Given the description of an element on the screen output the (x, y) to click on. 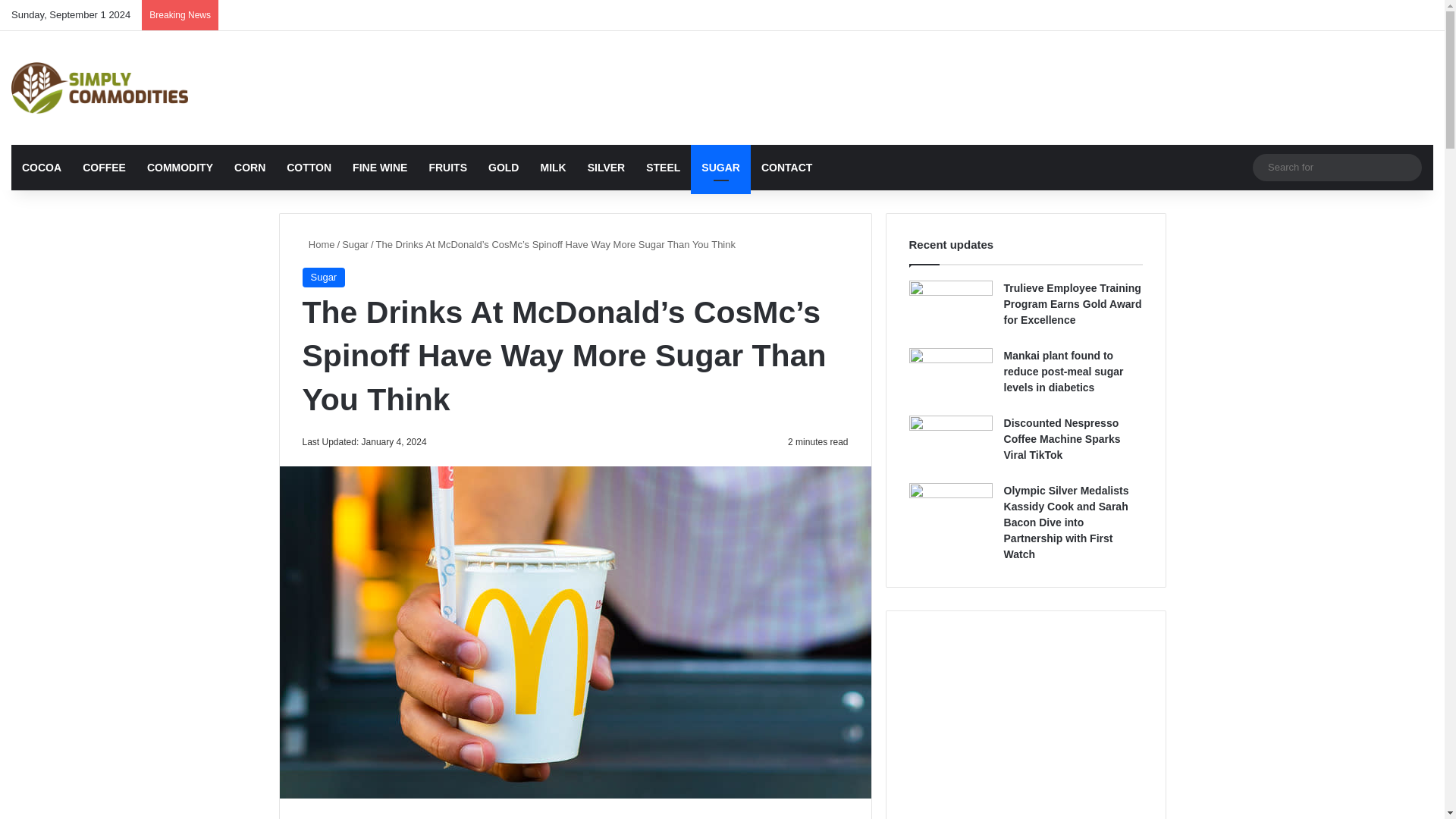
CORN (250, 167)
Search for (1406, 166)
COCOA (41, 167)
Home (317, 244)
Sugar (323, 277)
COFFEE (103, 167)
STEEL (662, 167)
SUGAR (720, 167)
CONTACT (786, 167)
GOLD (503, 167)
